Given the description of an element on the screen output the (x, y) to click on. 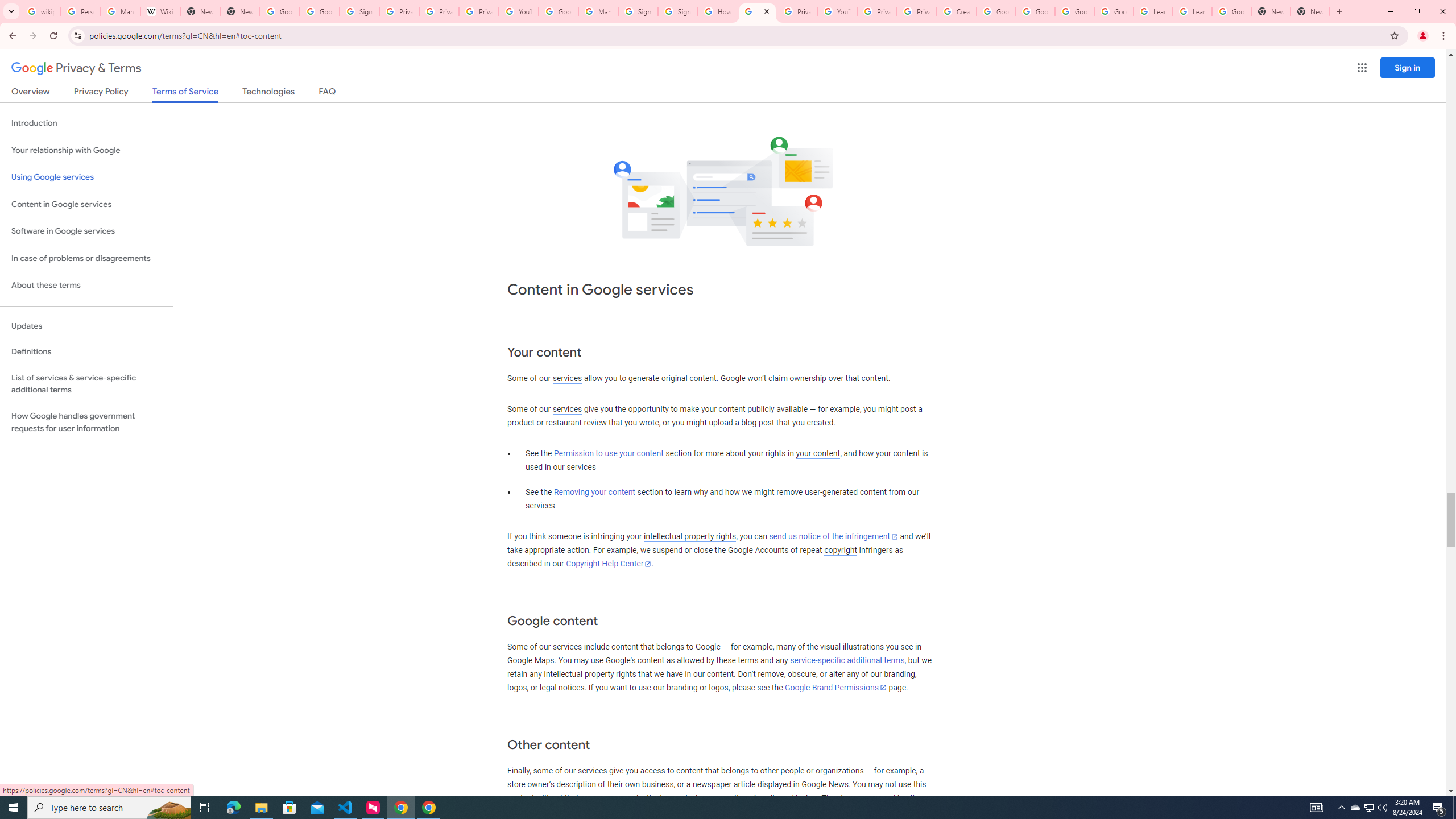
Permission to use your content (608, 453)
